Given the description of an element on the screen output the (x, y) to click on. 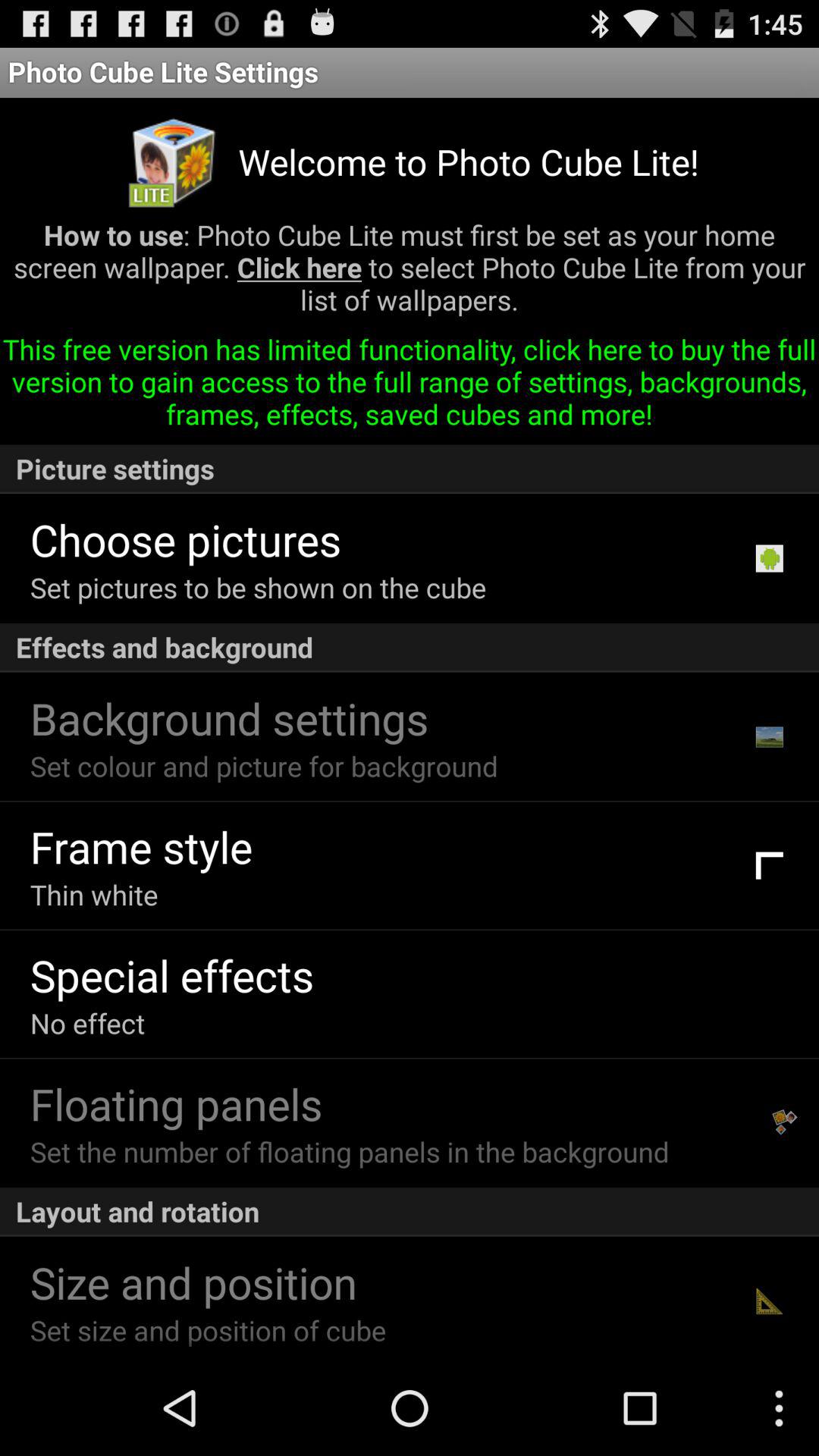
choose app above thin white icon (141, 846)
